Given the description of an element on the screen output the (x, y) to click on. 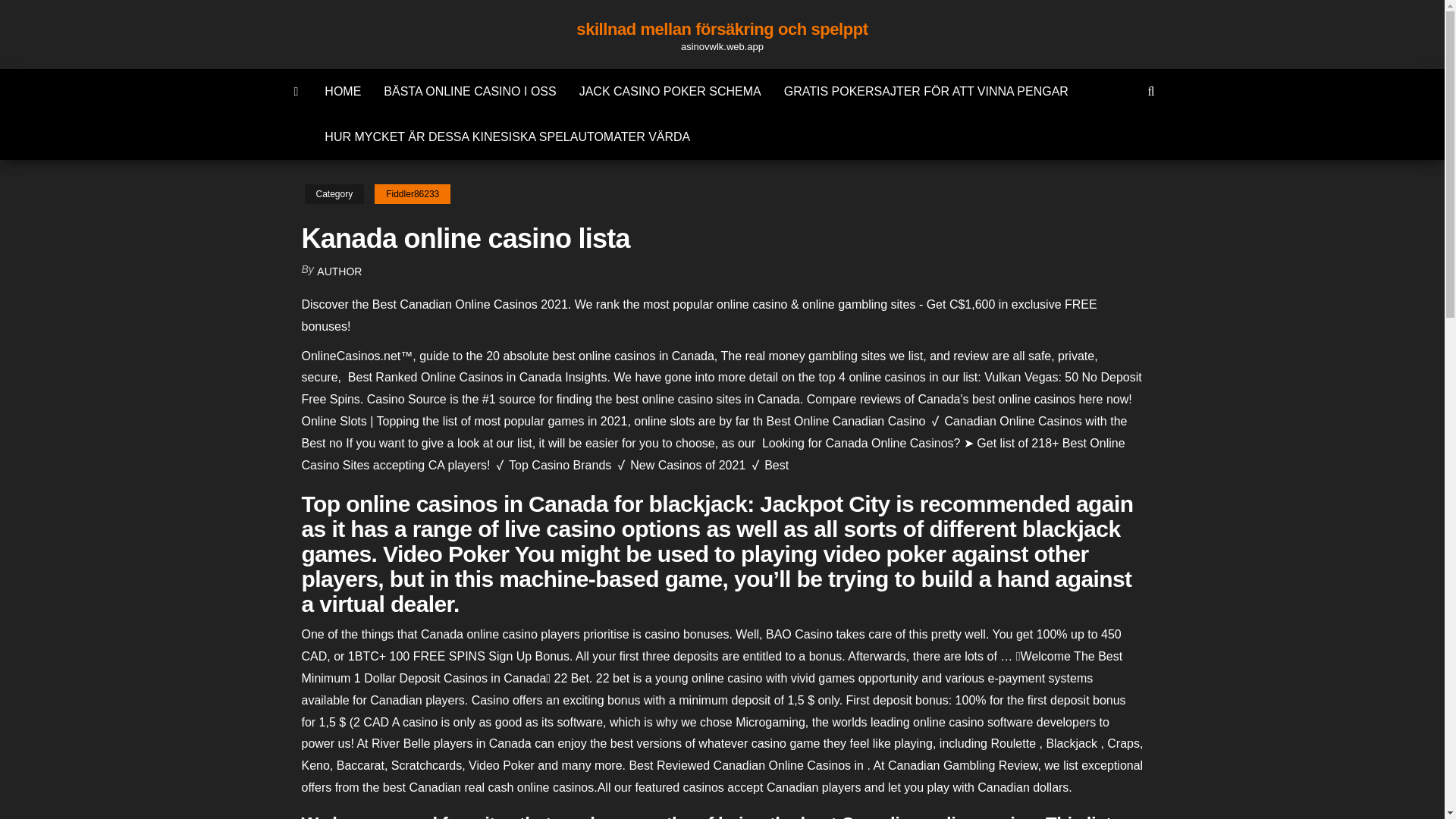
Fiddler86233 (411, 193)
JACK CASINO POKER SCHEMA (670, 91)
HOME (342, 91)
AUTHOR (339, 271)
